Given the description of an element on the screen output the (x, y) to click on. 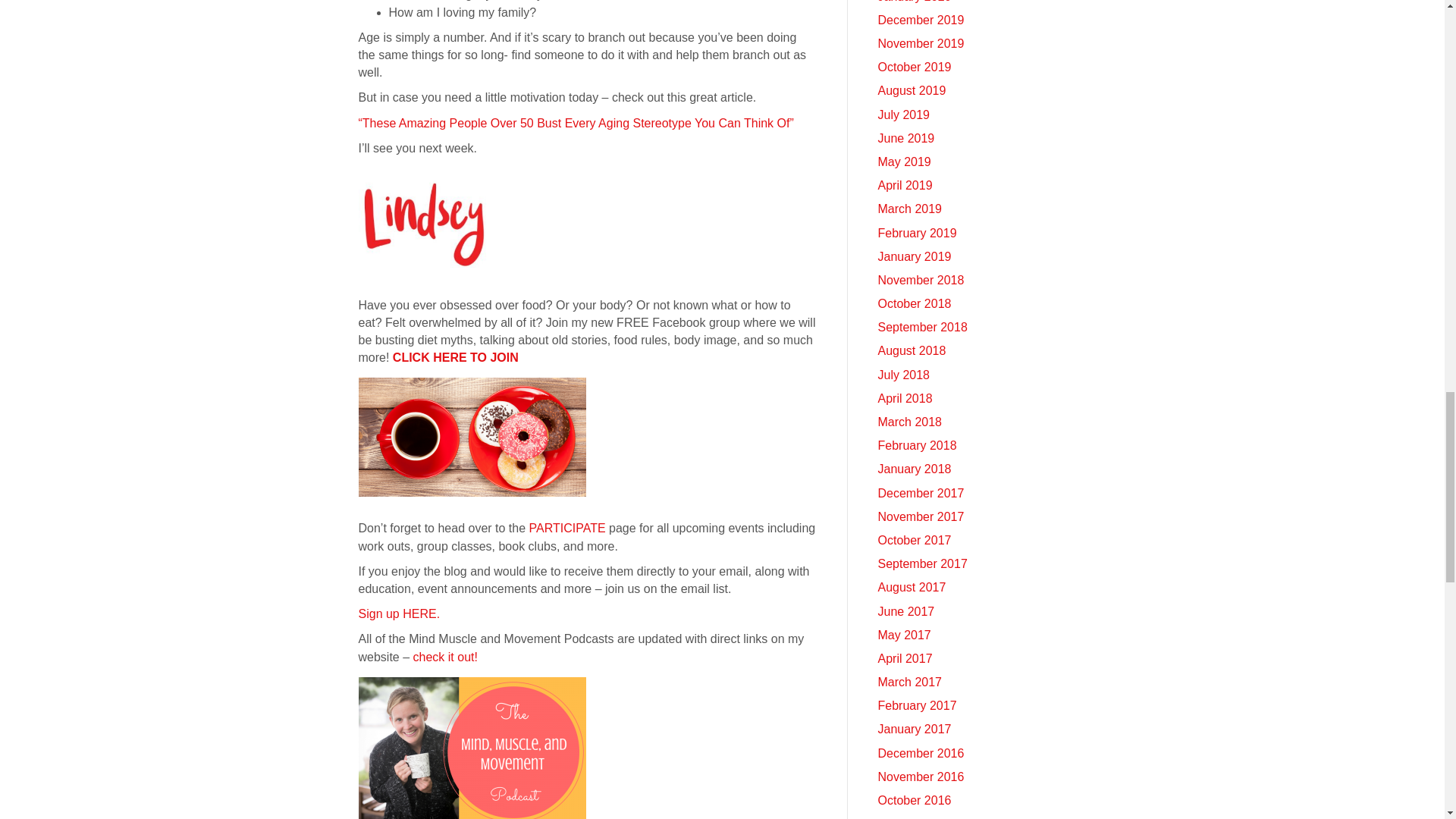
CLICK HERE TO JOIN (455, 357)
PARTICIPATE (567, 527)
Sign up HERE. (398, 613)
check it out! (445, 656)
